Given the description of an element on the screen output the (x, y) to click on. 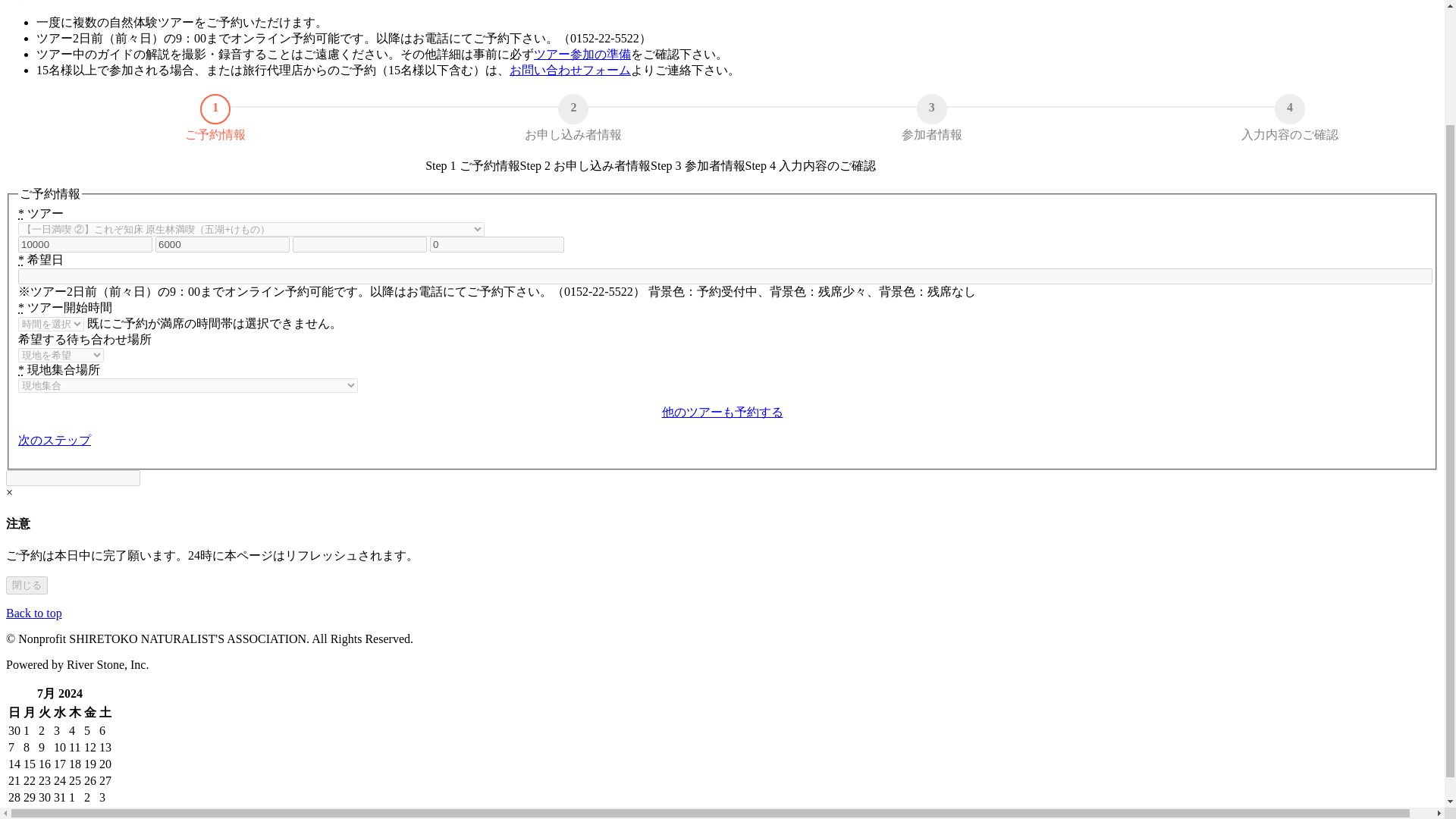
0 (496, 244)
10000 (84, 244)
Back to top (33, 612)
6000 (222, 244)
